Given the description of an element on the screen output the (x, y) to click on. 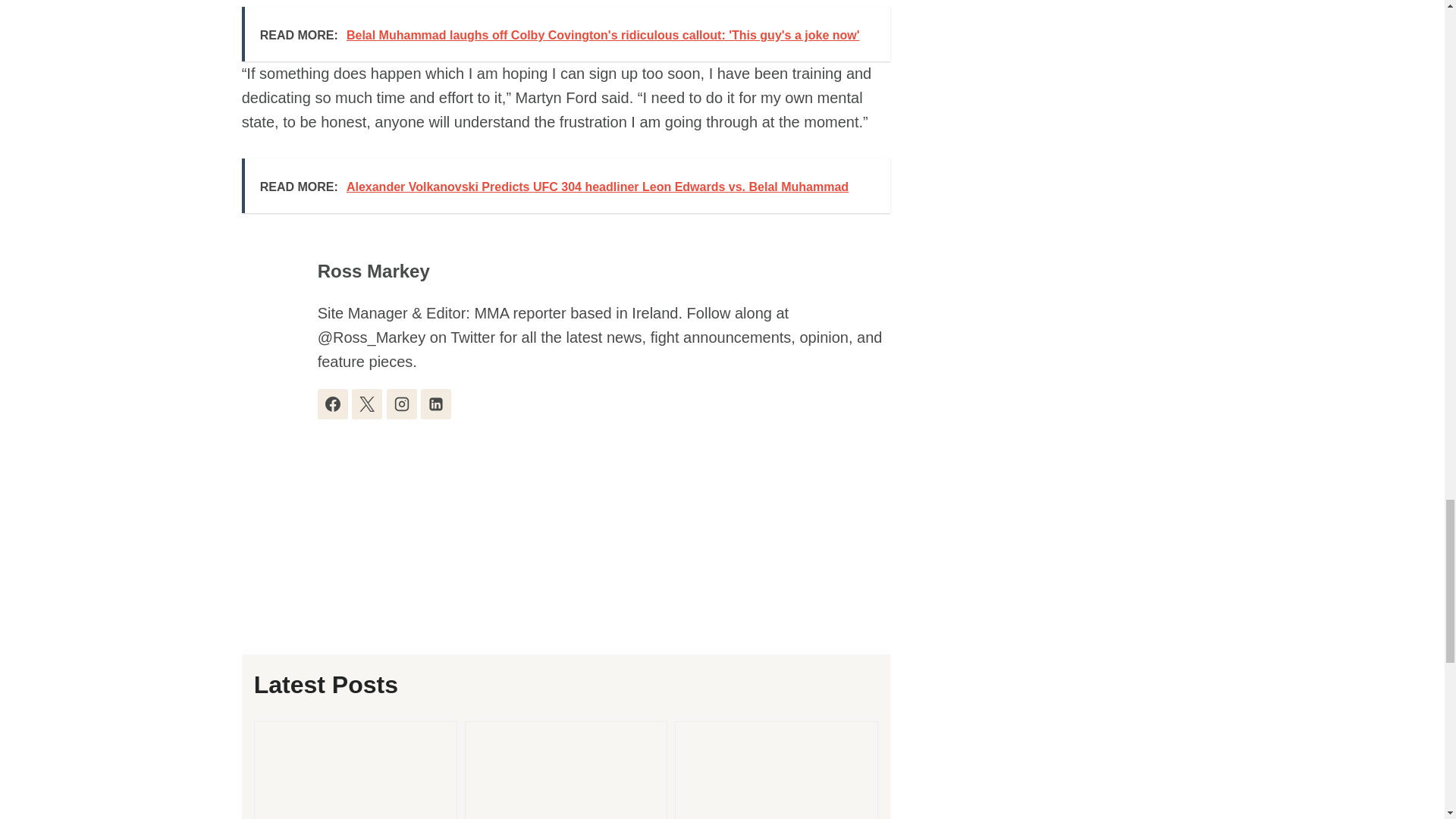
Follow Ross Markey on Instagram (401, 404)
Follow Ross Markey on Linkedin (435, 404)
Posts by Ross Markey (373, 271)
Follow Ross Markey on Facebook (332, 404)
Follow Ross Markey on X formerly Twitter (366, 404)
